Given the description of an element on the screen output the (x, y) to click on. 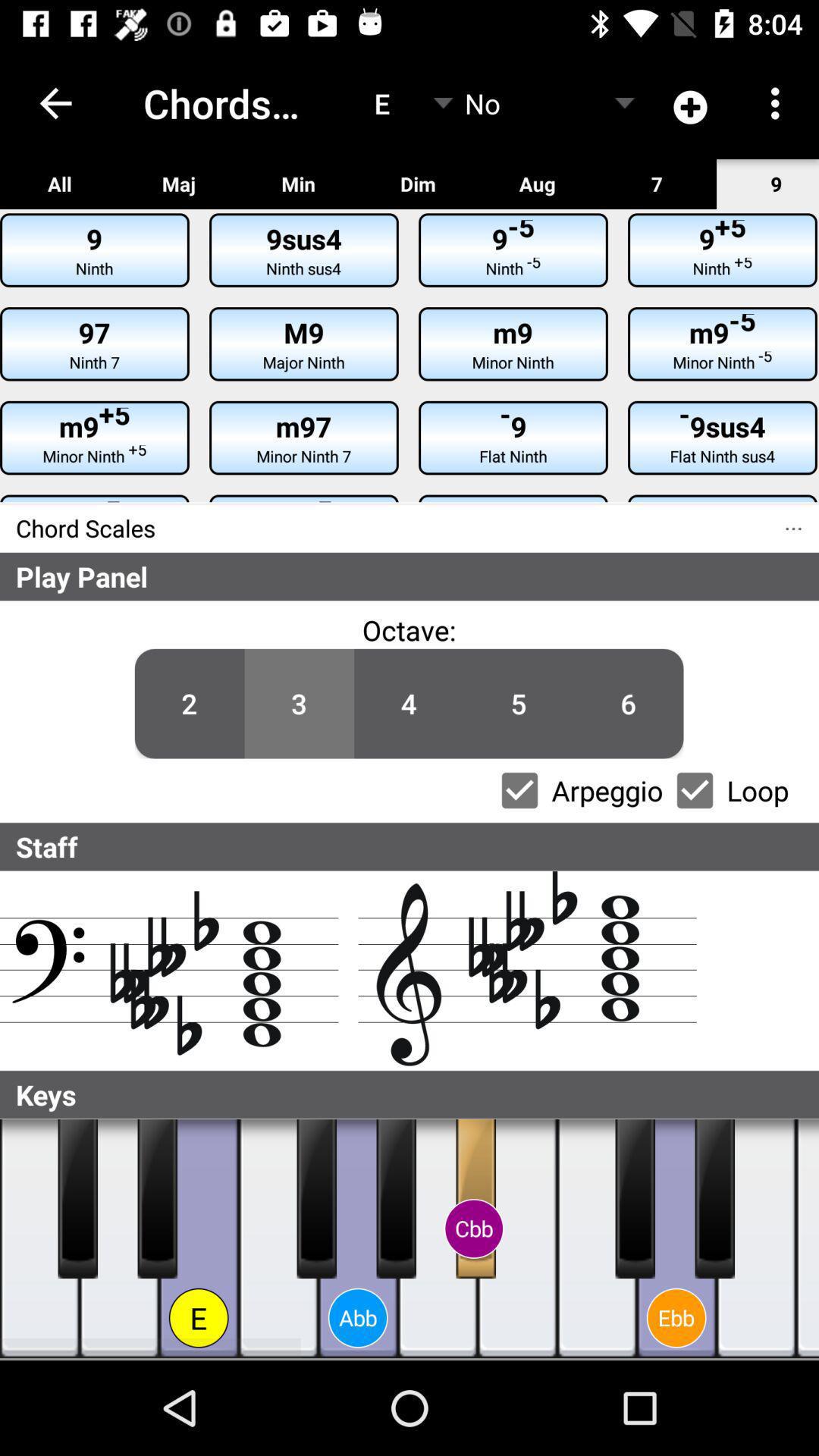
click icon to the left of the 3 item (189, 703)
